Given the description of an element on the screen output the (x, y) to click on. 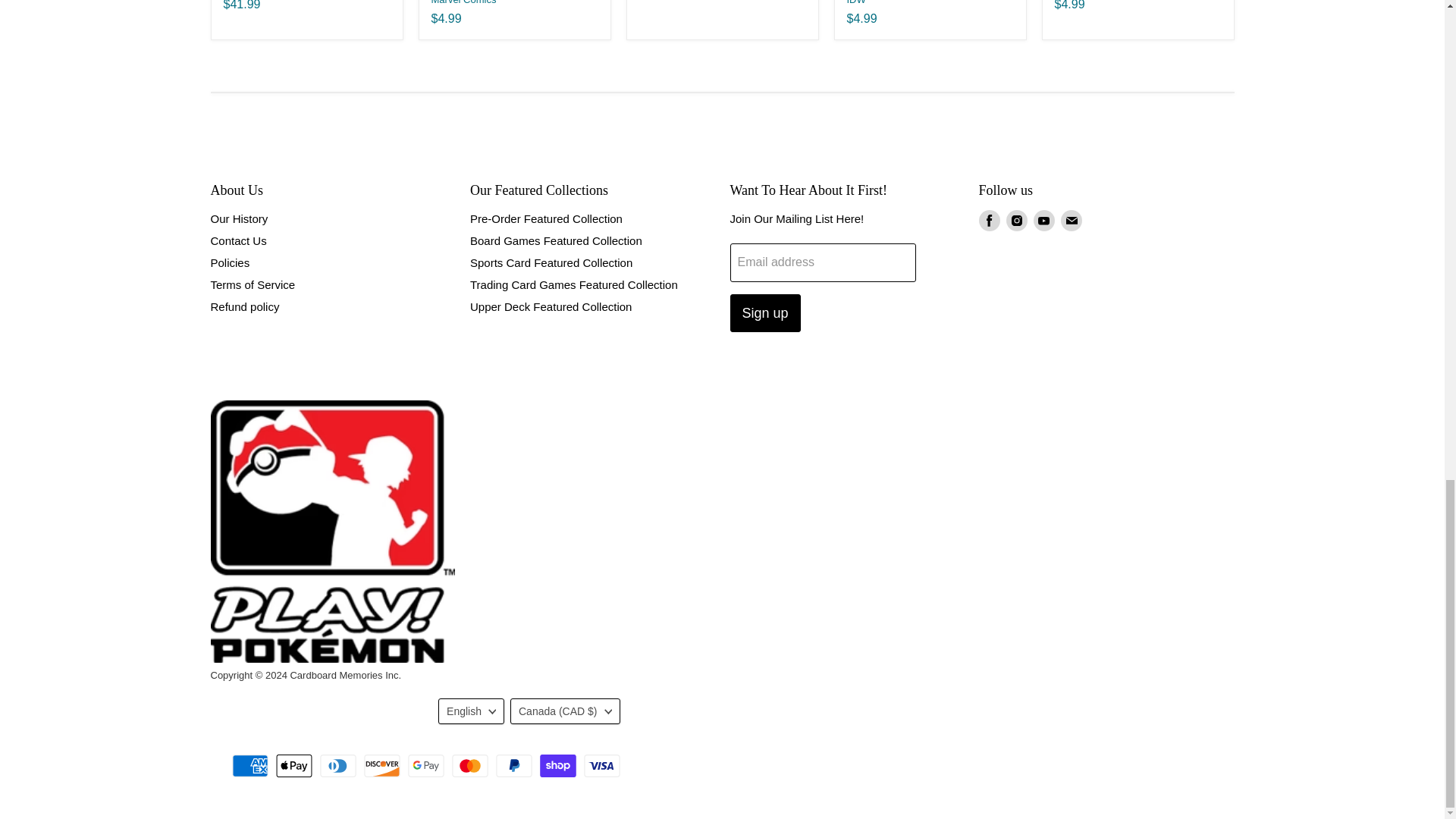
Instagram (1016, 219)
Email (1070, 219)
Facebook (988, 219)
Youtube (1043, 219)
Marvel Comics (463, 2)
IDW (854, 2)
